Given the description of an element on the screen output the (x, y) to click on. 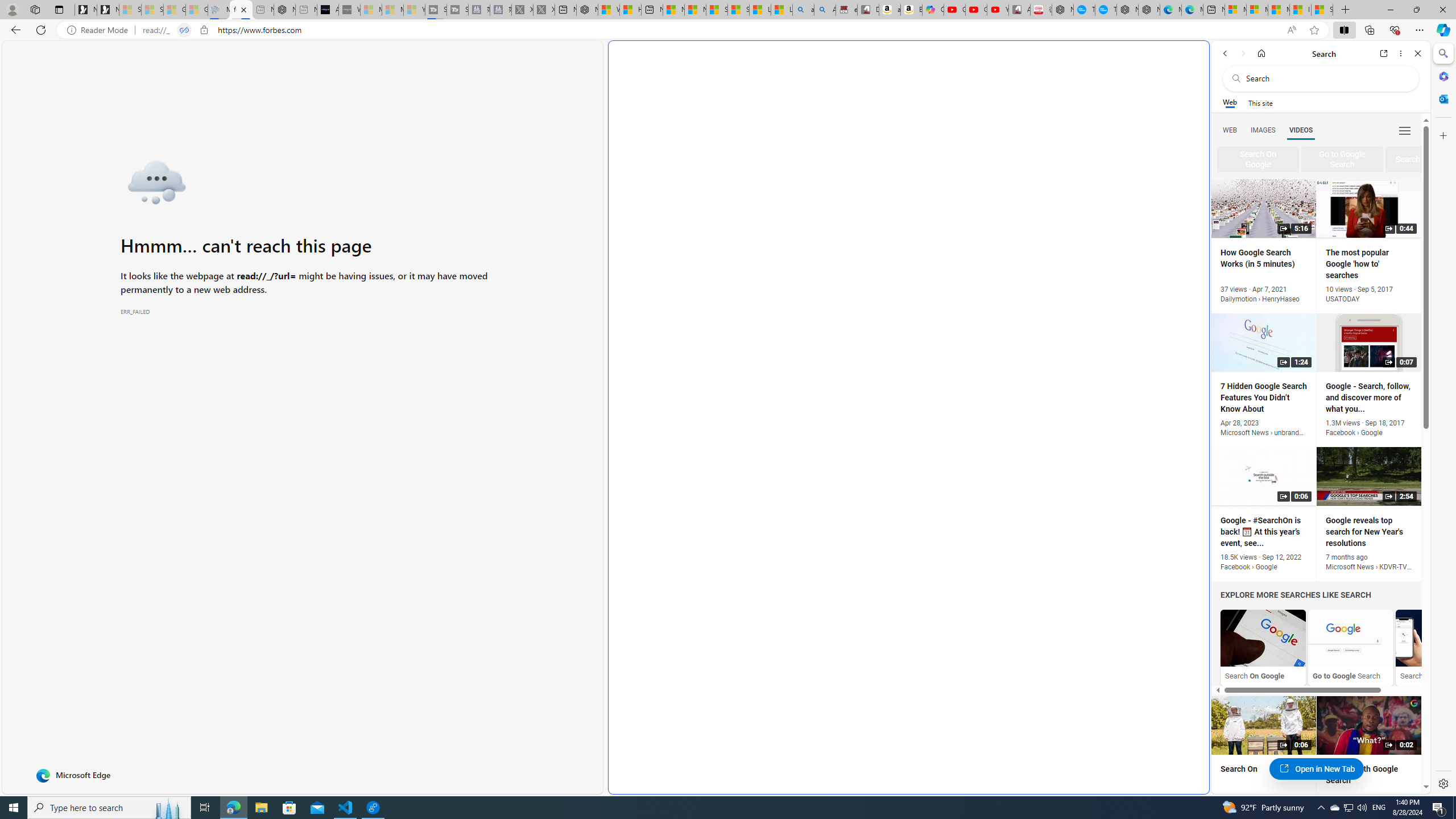
WEB (1230, 130)
Copilot (933, 9)
Search On Google (1263, 647)
Tabs in split screen (184, 29)
Huge shark washes ashore at New York City beach | Watch (630, 9)
Go to Google Search (1350, 647)
VIDEOS   (1300, 130)
More options (1401, 53)
